Given the description of an element on the screen output the (x, y) to click on. 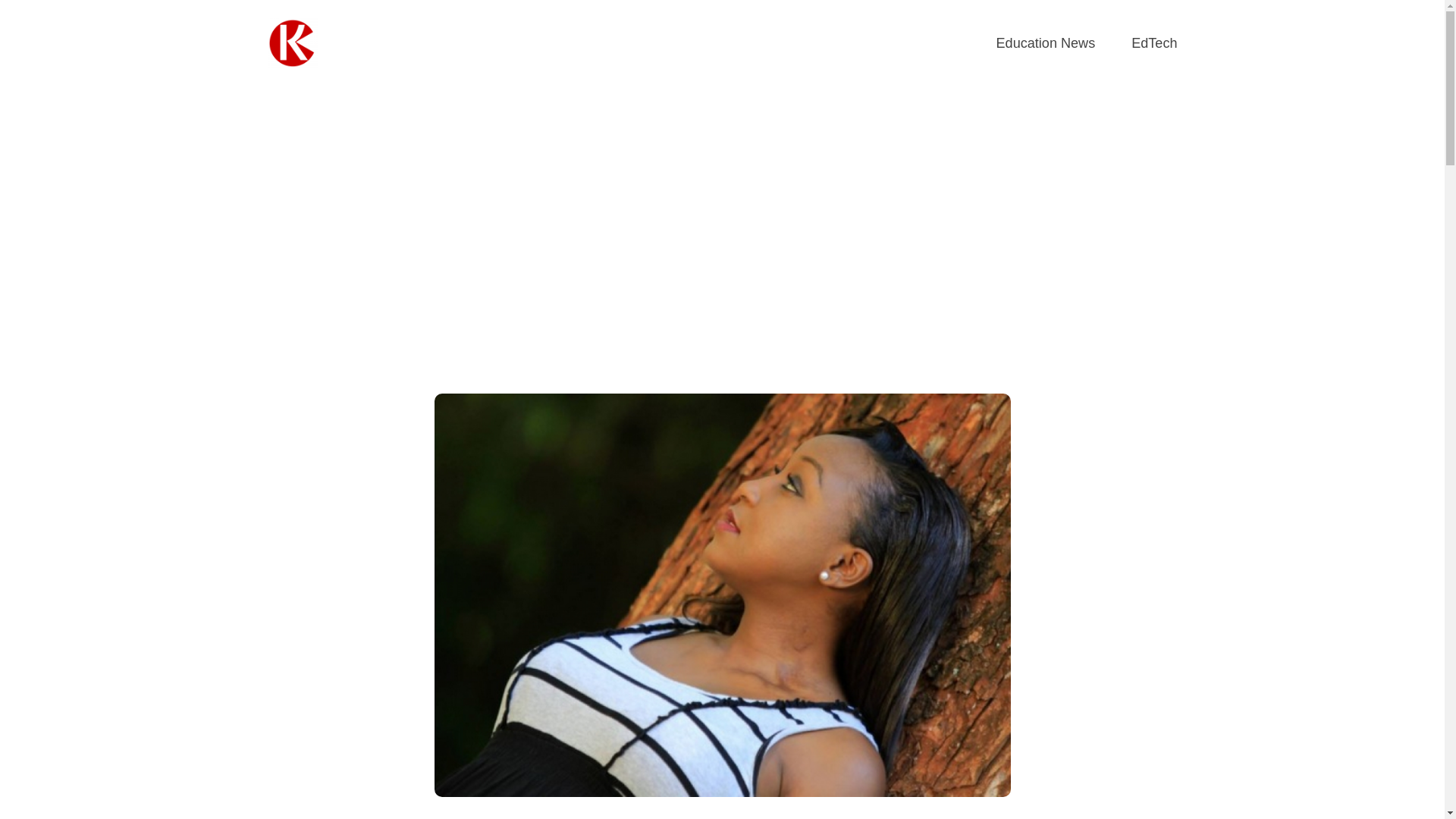
Education News (1045, 43)
EdTech (1153, 43)
